Given the description of an element on the screen output the (x, y) to click on. 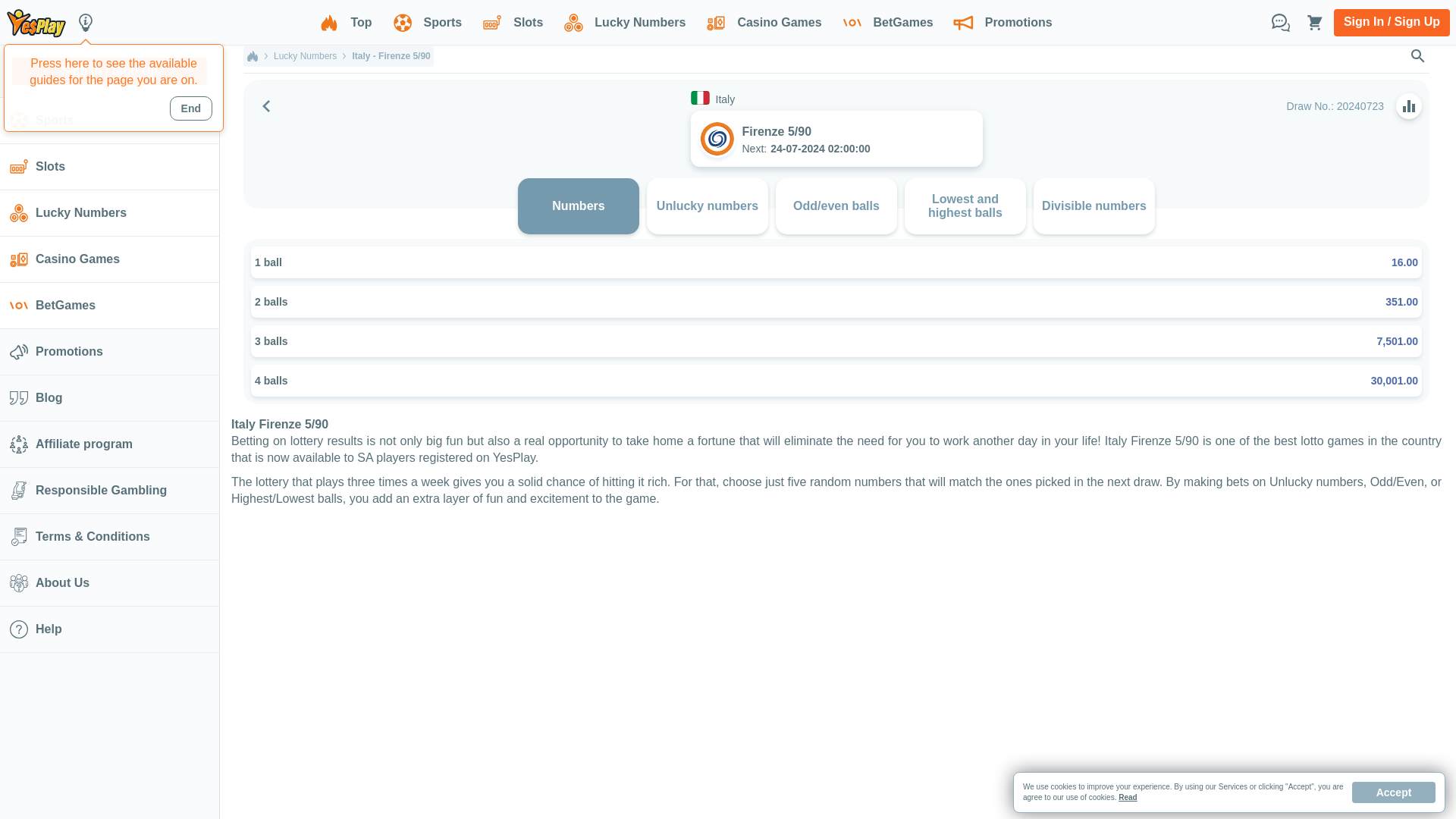
Promotions (999, 22)
Casino Games (109, 258)
Blog (109, 397)
Sports (109, 120)
Sports (425, 22)
Promotions (109, 351)
Top (341, 22)
Help (109, 628)
Lucky Numbers (621, 22)
About Us (109, 583)
Slots (509, 22)
Slots (109, 166)
BetGames (884, 22)
Affiliate program (109, 443)
